Given the description of an element on the screen output the (x, y) to click on. 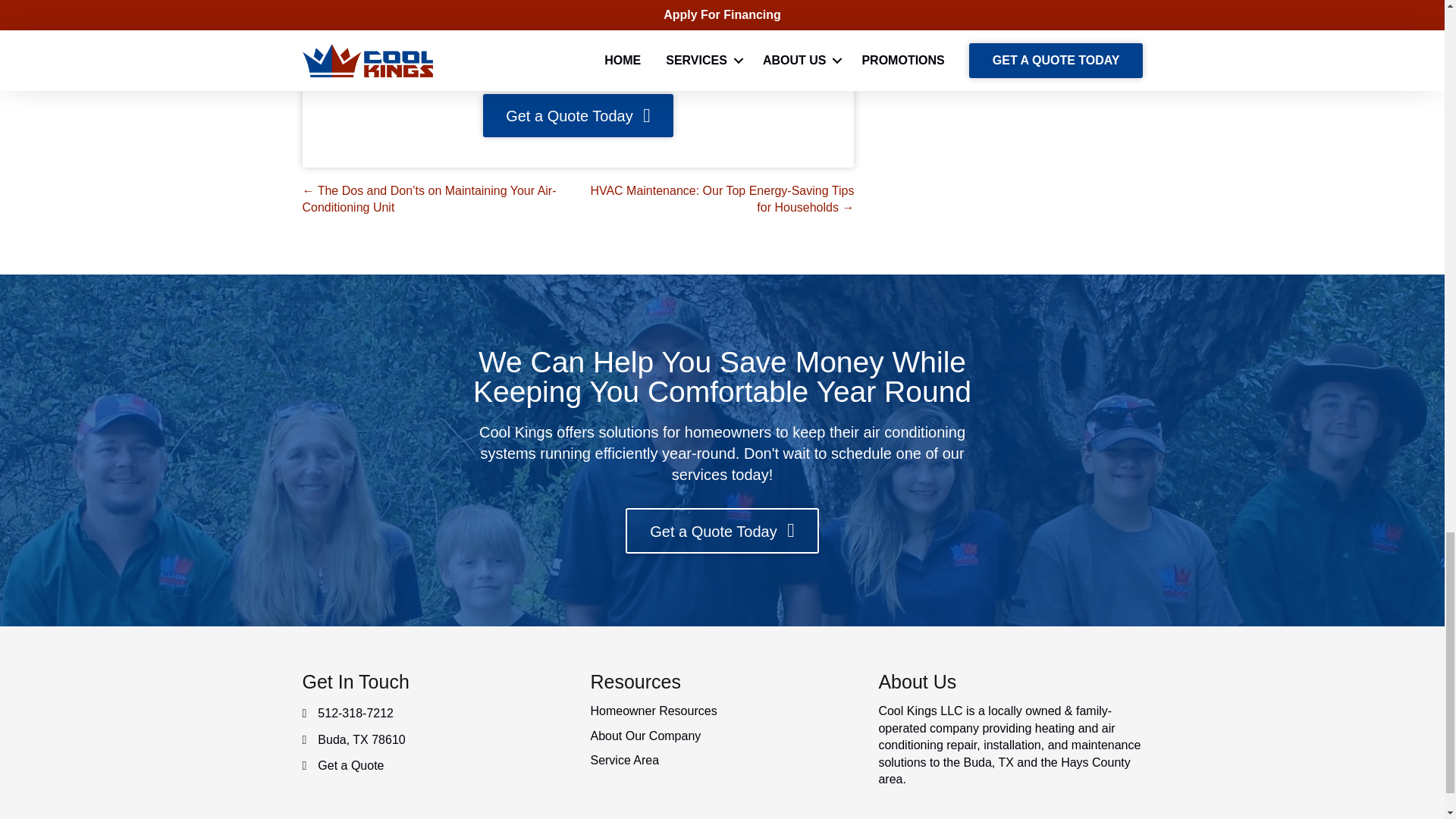
Get a Quote Today (577, 115)
Call 512-318-7212 (578, 35)
512-318-7212 (355, 713)
About Our Company (644, 735)
Homeowner Resources (652, 710)
Get a Quote (350, 765)
Get a Quote Today (722, 530)
Service Area (624, 759)
